Given the description of an element on the screen output the (x, y) to click on. 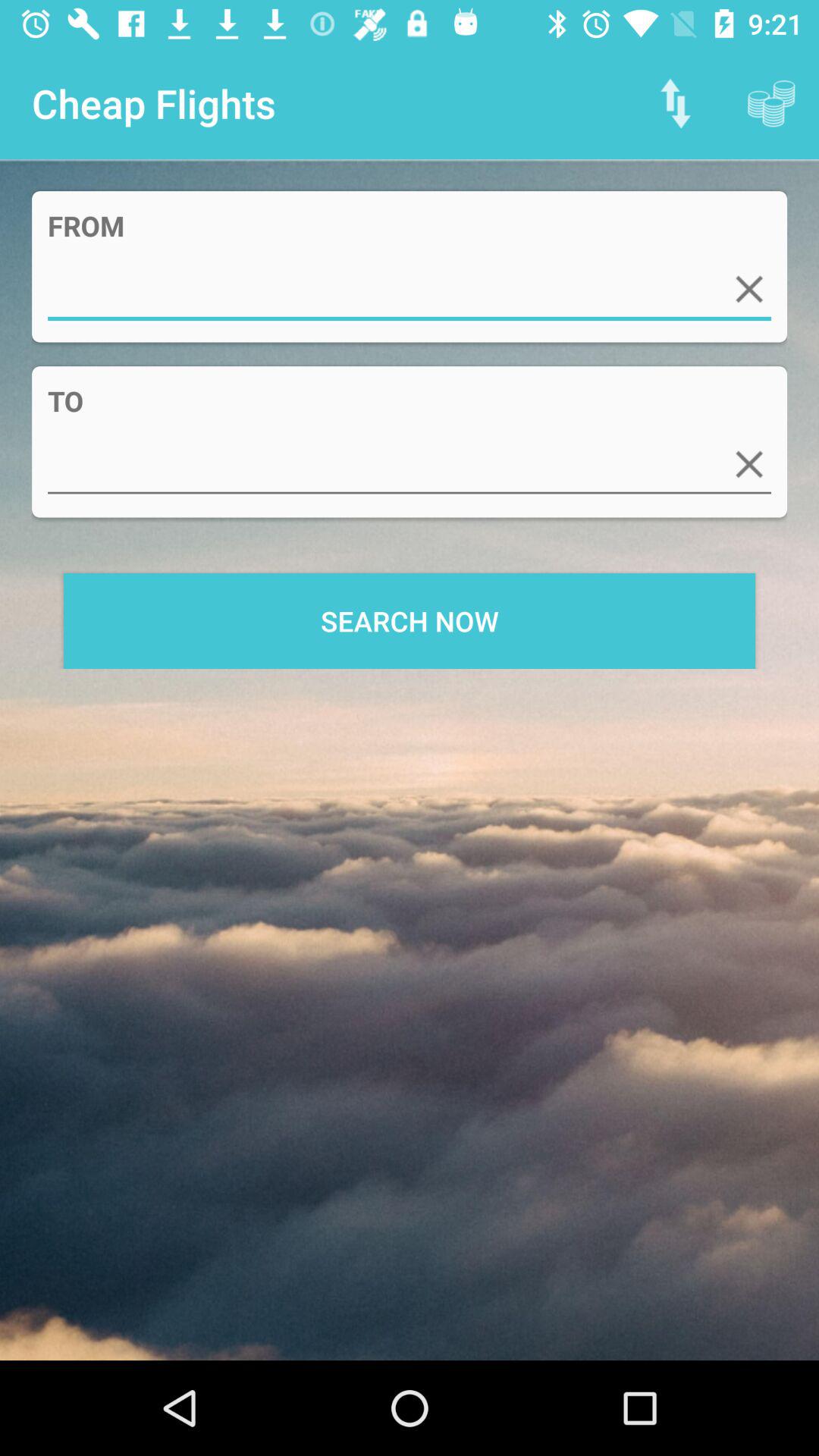
enter search information (409, 289)
